Given the description of an element on the screen output the (x, y) to click on. 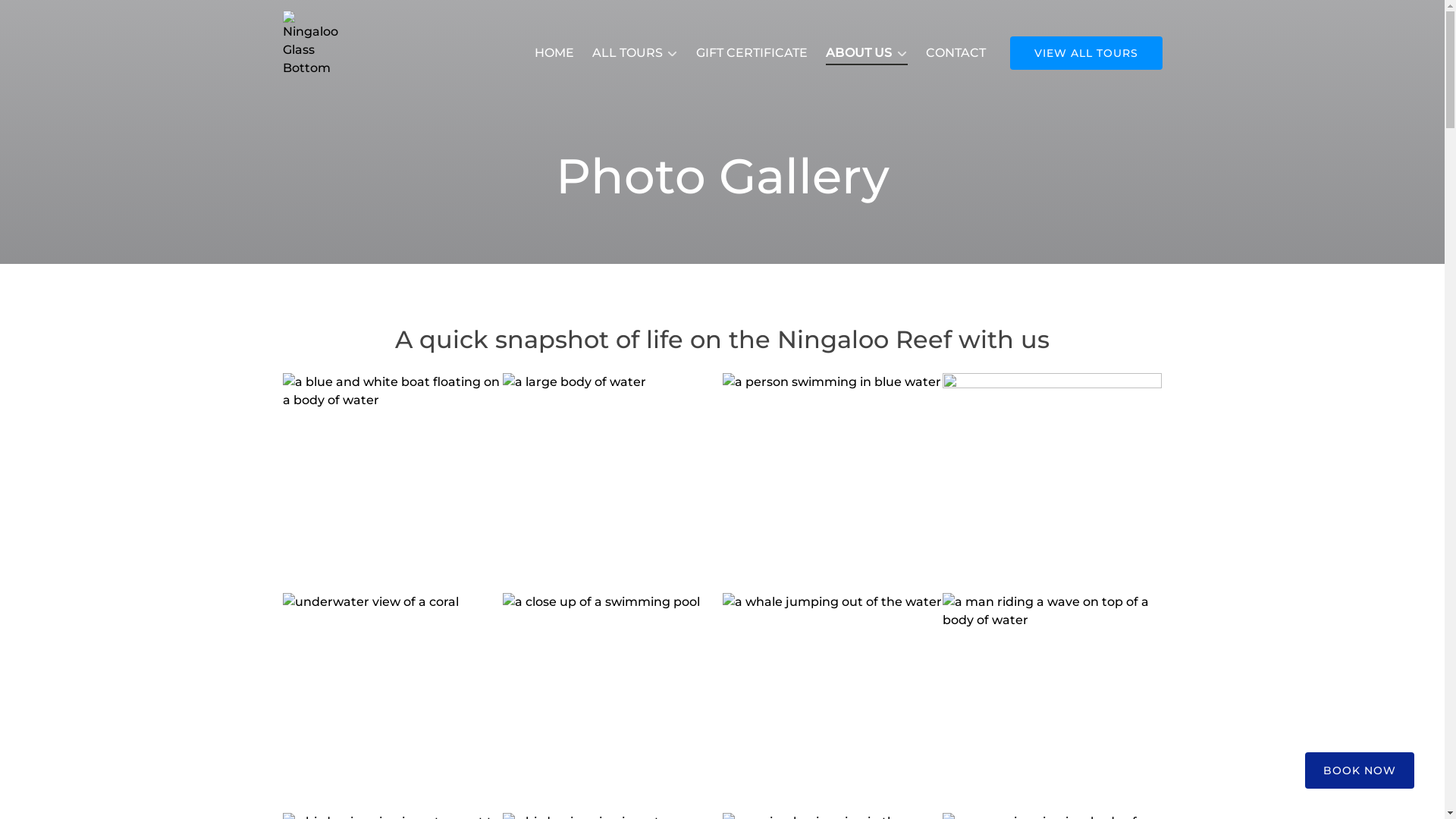
ABOUT US Element type: text (866, 52)
DCIM100GOPROGOPR1024.JPG Element type: hover (1051, 482)
Skip to content Element type: text (54, 16)
HUMPBACK WHALE BREACH Element type: hover (1051, 702)
DCIM100GOPROGOPR1792.JPG Element type: hover (611, 482)
VIEW ALL TOURS Element type: text (1086, 52)
ALL TOURS Element type: text (635, 52)
16322063860193-7DF4D5EA-5735-40CC-BB16-C58A98CC4787 Element type: hover (831, 482)
HUMPBACK WHALE BREACH 2 Element type: hover (831, 702)
CONTACT Element type: text (955, 52)
DJI_0496 (Large) Element type: hover (391, 482)
HOME Element type: text (554, 52)
Skip to primary navigation Element type: text (89, 16)
BOOK NOW Element type: text (1359, 760)
GIFT CERTIFICATE Element type: text (751, 52)
Skip to footer Element type: text (49, 16)
DCIM100GOPROGOPR0852.JPG Element type: hover (391, 702)
DCIM100MEDIADJI_0072.JPG Element type: hover (611, 702)
